Given the description of an element on the screen output the (x, y) to click on. 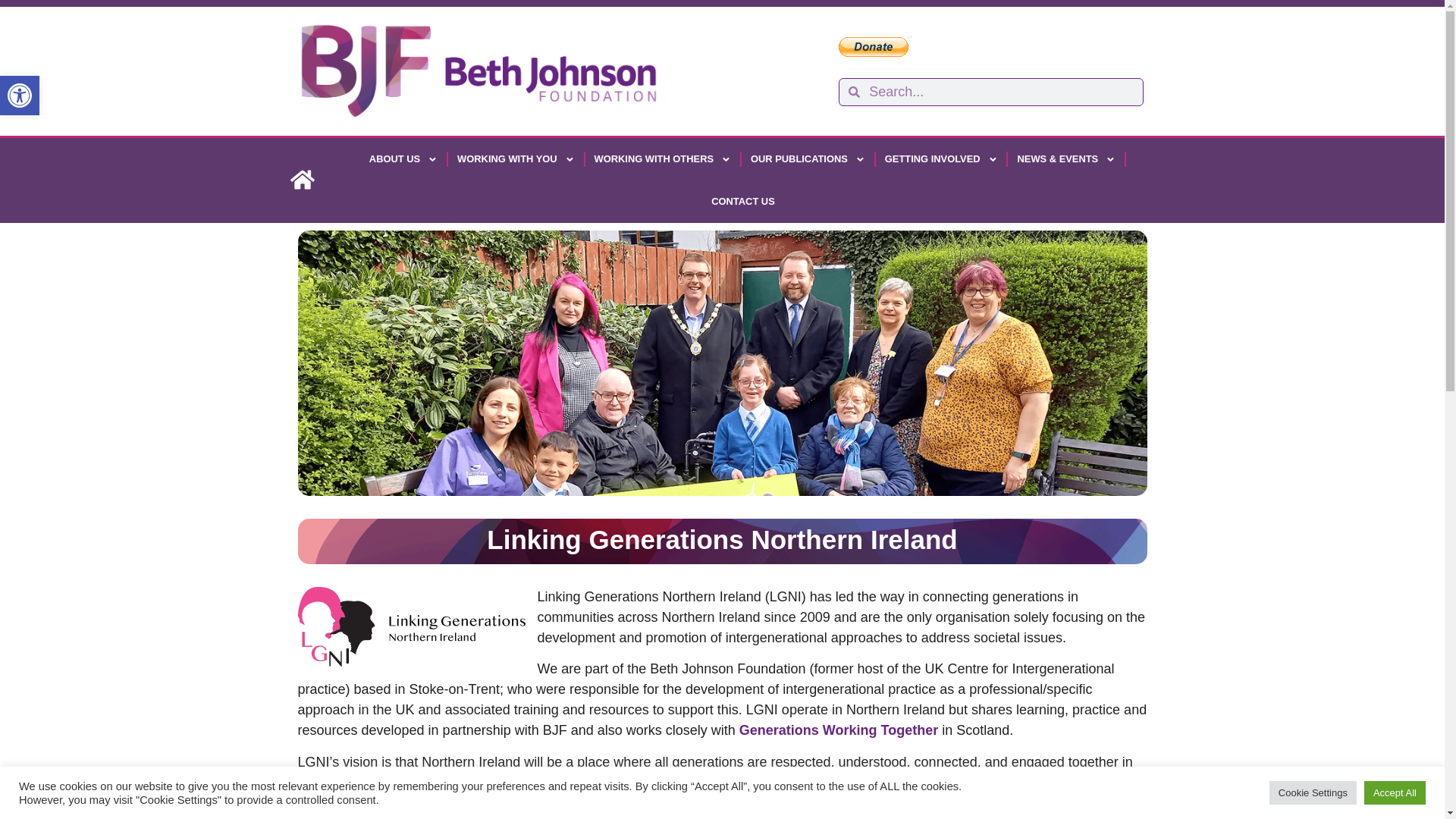
Accessibility Tools (19, 95)
PayPal - The safer, easier way to pay online! (873, 46)
Accessibility Tools (19, 95)
WORKING WITH OTHERS (19, 95)
WORKING WITH YOU (662, 159)
ABOUT US (515, 159)
